Given the description of an element on the screen output the (x, y) to click on. 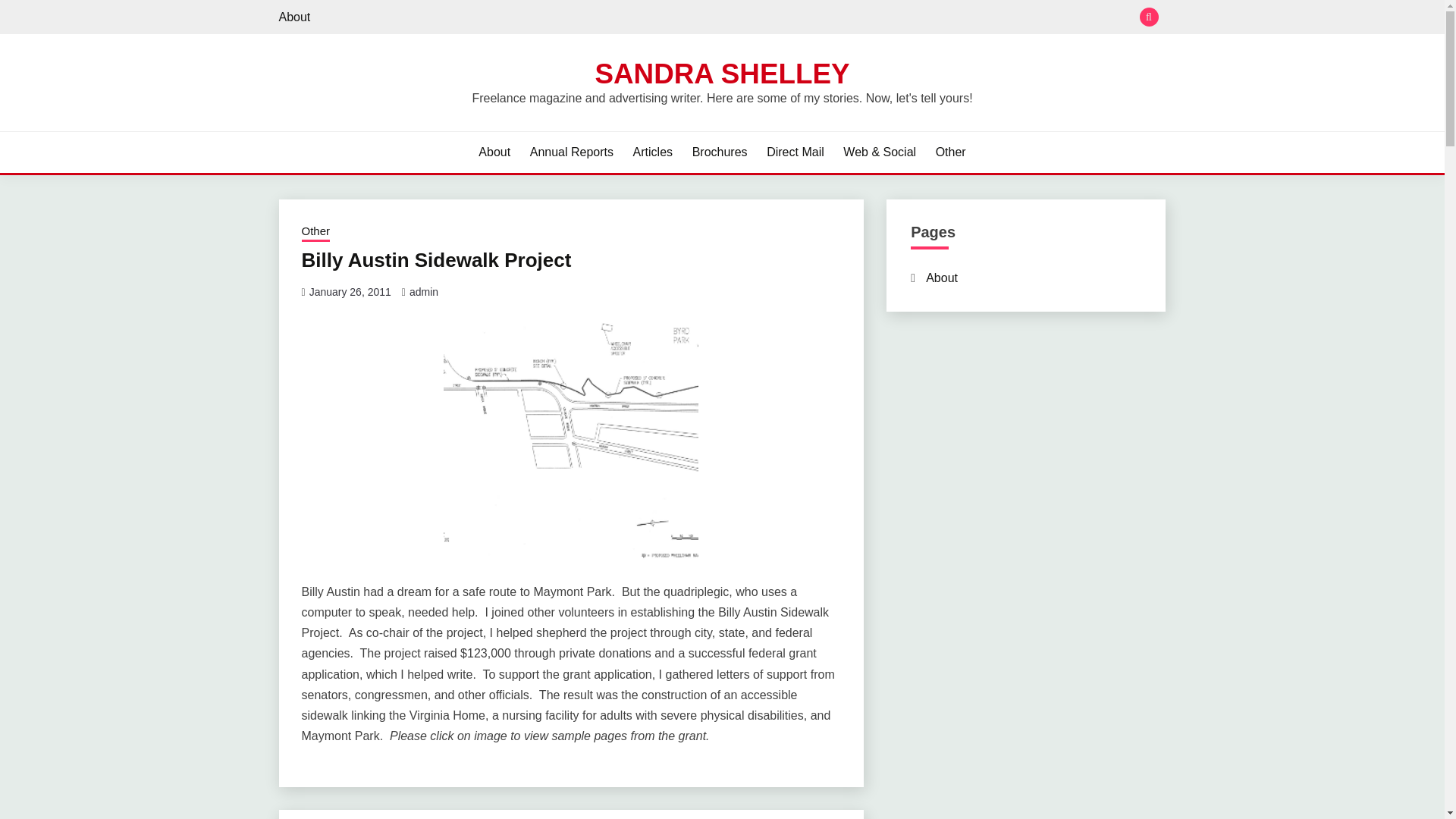
Other (315, 232)
Other (951, 152)
SANDRA SHELLEY (721, 73)
Billy Austin Sidewalk Project (436, 259)
Search (832, 18)
Articles (652, 152)
Brochures (720, 152)
Direct Mail (795, 152)
admin (423, 291)
Annual Reports (570, 152)
About (495, 152)
Billy Austin Sidewalk Project Cover (571, 435)
January 26, 2011 (349, 291)
About (295, 16)
